Given the description of an element on the screen output the (x, y) to click on. 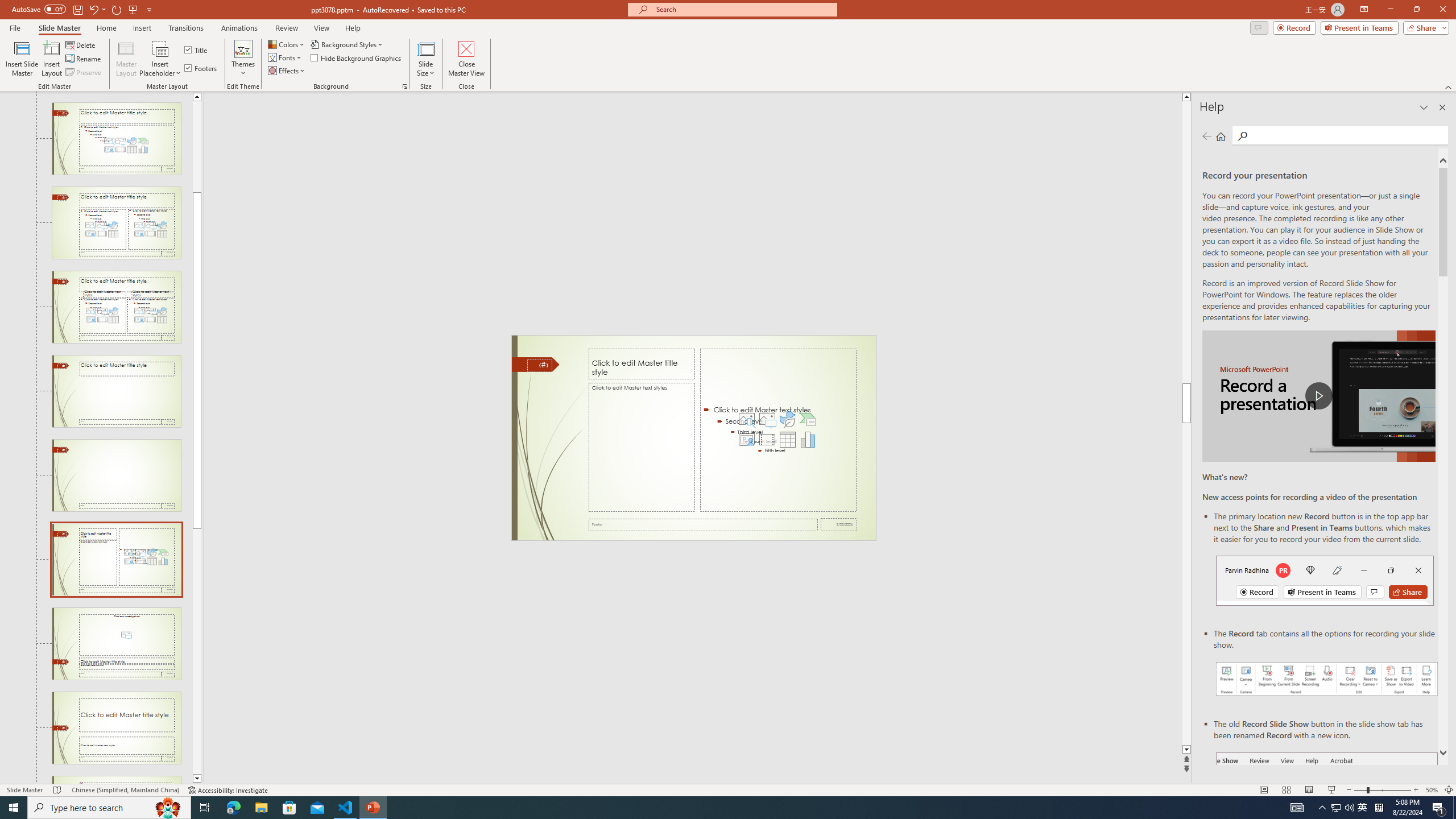
play Record a Presentation (1318, 395)
Format Background... (404, 85)
Background Styles (347, 44)
Slide Title and Caption Layout: used by no slides (116, 728)
Record button in top bar (1324, 580)
Freeform 11 (535, 364)
Colors (287, 44)
Slide Comparison Layout: used by no slides (116, 307)
